Given the description of an element on the screen output the (x, y) to click on. 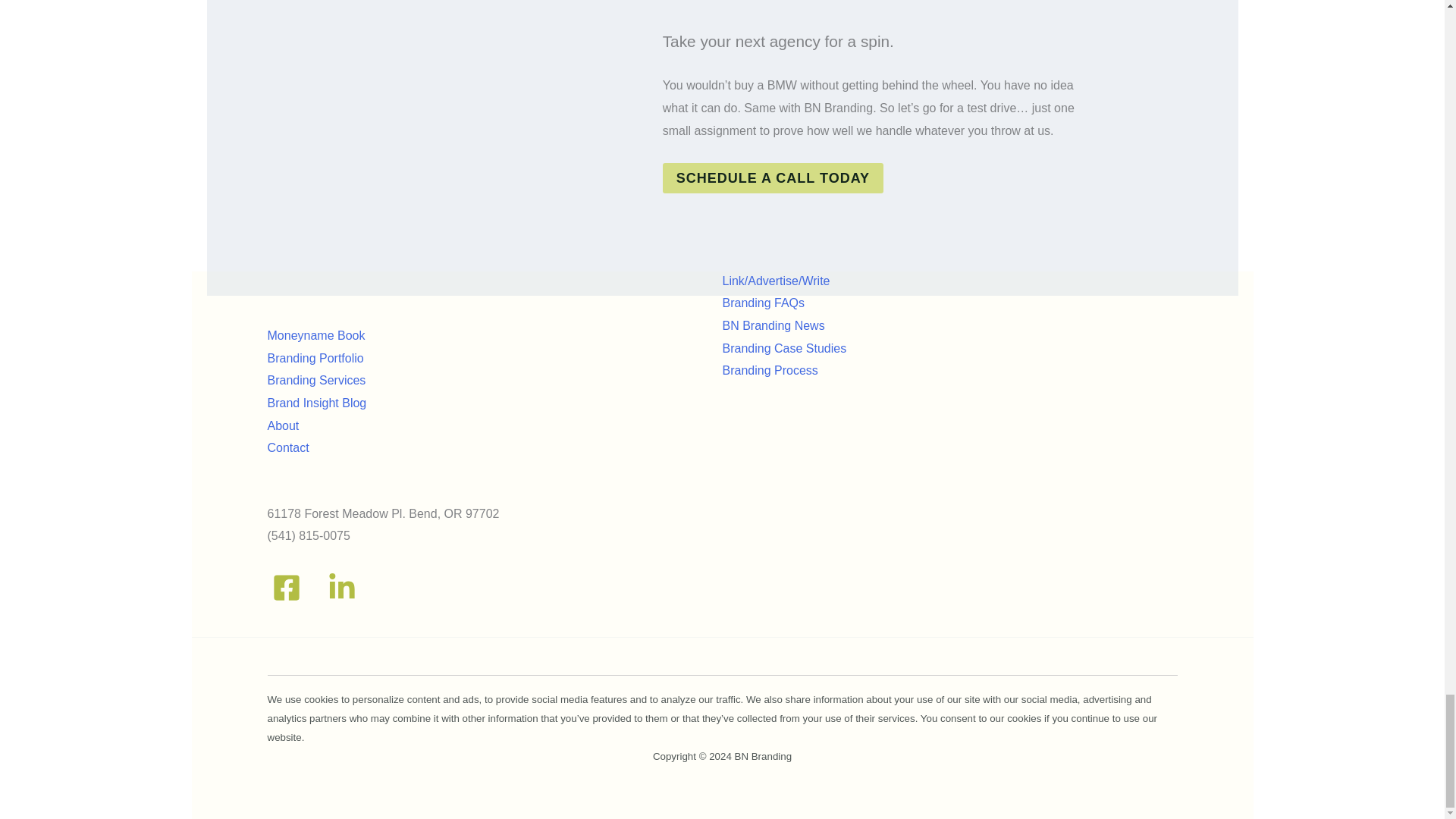
SCHEDULE A CALL TODAY (772, 177)
